Given the description of an element on the screen output the (x, y) to click on. 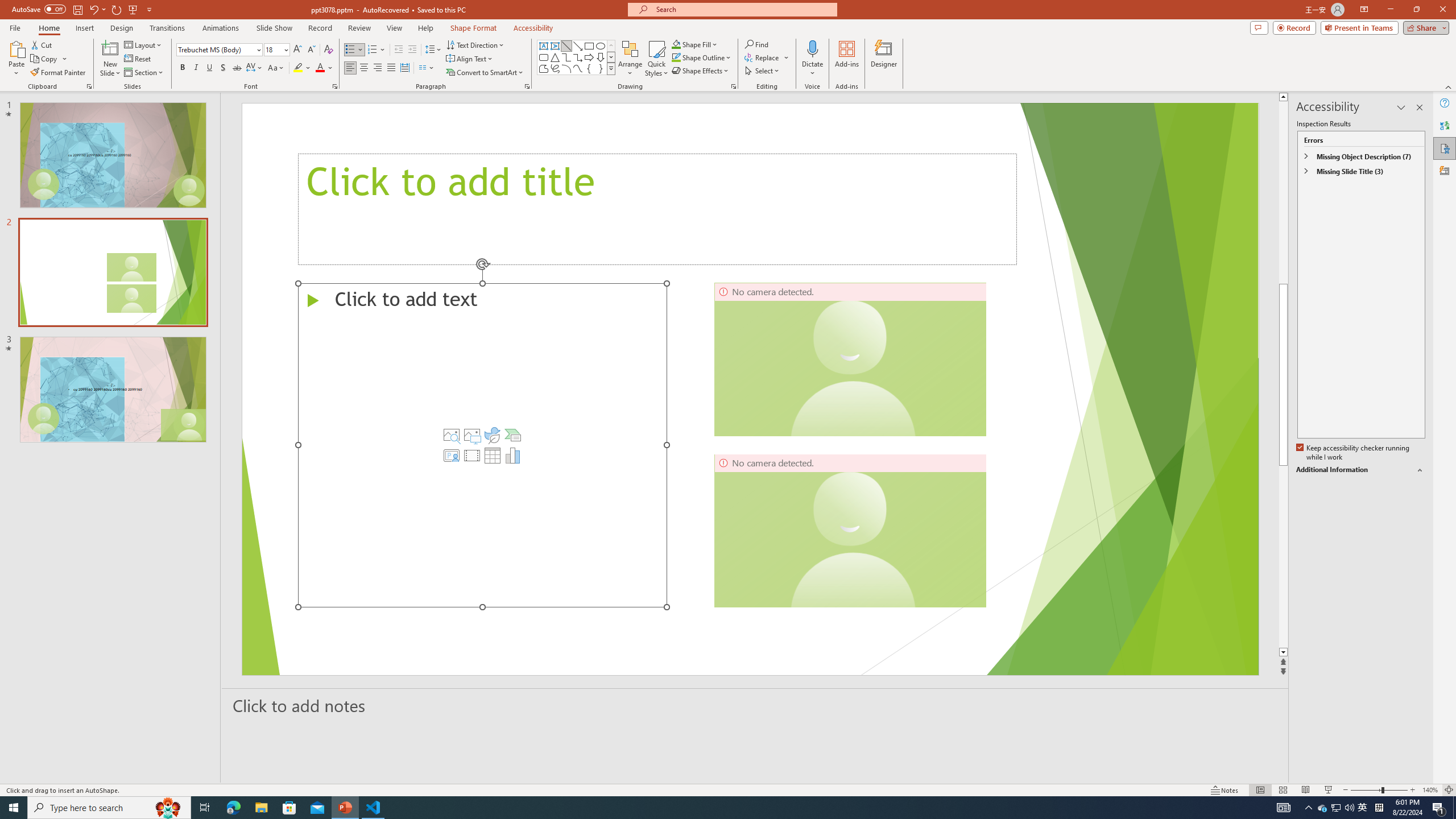
Connector: Elbow Arrow (577, 57)
Clear Formatting (327, 49)
Insert an Icon (492, 434)
Line Arrow (577, 45)
Office Clipboard... (88, 85)
Align Right (377, 67)
Text Box (543, 45)
